Given the description of an element on the screen output the (x, y) to click on. 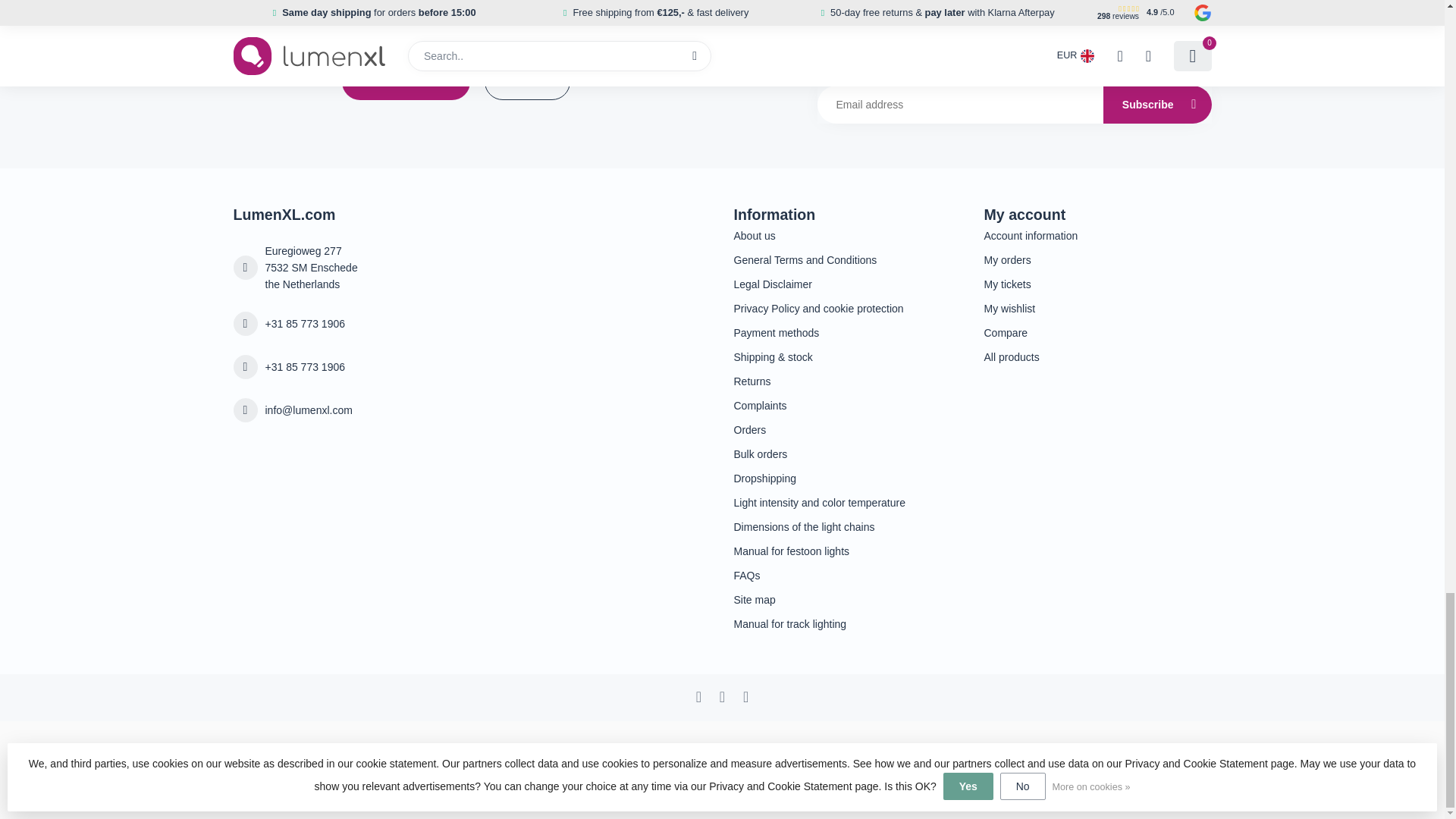
Returns (846, 381)
General Terms and Conditions (846, 259)
Bulk orders (846, 454)
Orders (846, 429)
Privacy Policy and cookie protection (846, 308)
Dropshipping (846, 478)
About us (846, 235)
Light intensity and color temperature (846, 502)
Legal Disclaimer (846, 283)
Payment methods (846, 332)
